Given the description of an element on the screen output the (x, y) to click on. 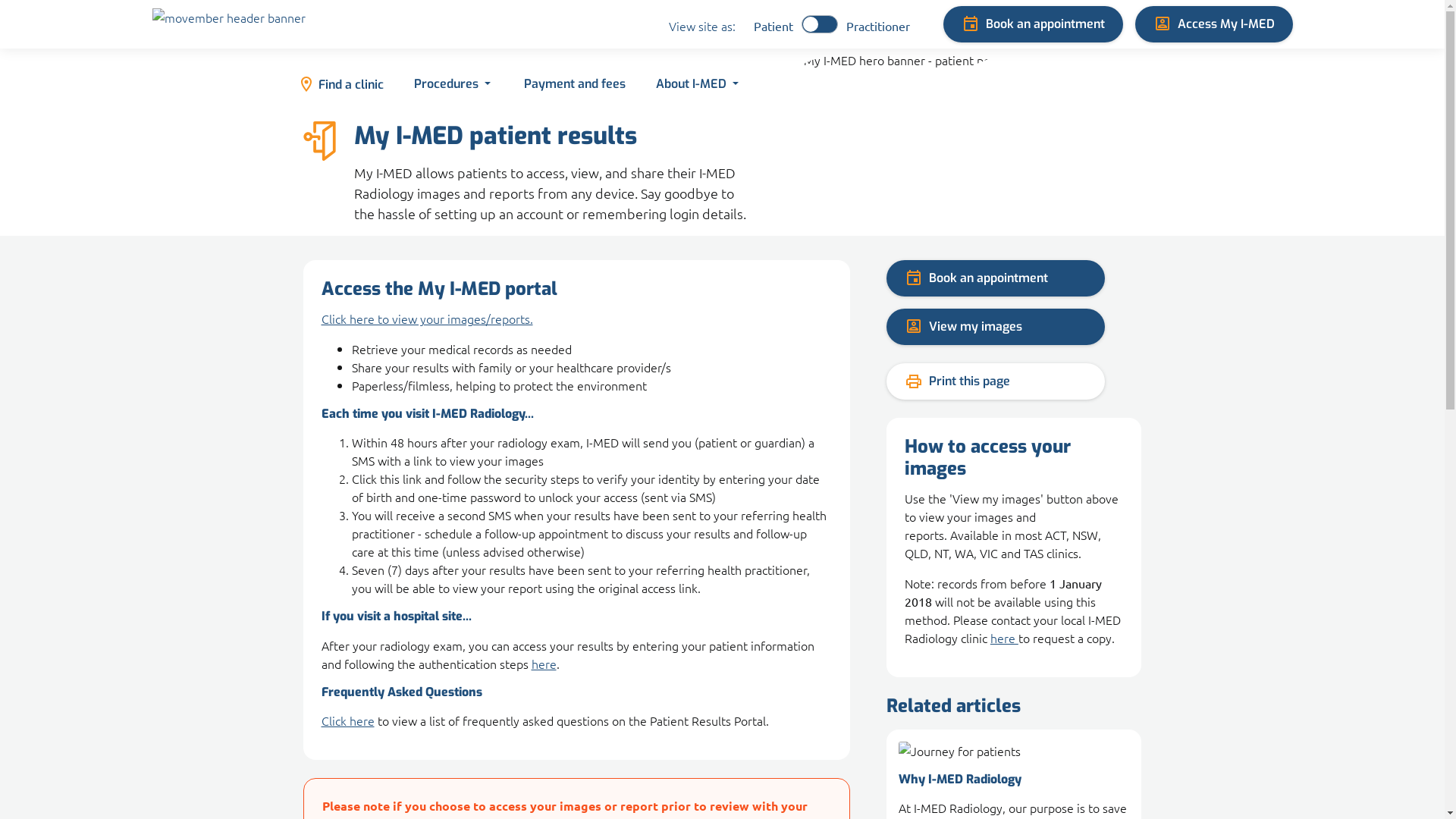
View my images Element type: text (995, 326)
Access My I-MED Element type: text (1213, 24)
Click here Element type: text (347, 720)
here  Element type: text (1004, 637)
Find a clinic Element type: text (340, 84)
Click here to view your images/reports. Element type: text (427, 318)
Payment and fees Element type: text (572, 84)
Book an appointment Element type: text (1033, 24)
printPrint this page Element type: text (995, 381)
Book an appointment Element type: text (995, 278)
Procedures Element type: text (451, 84)
Access My I-MED Element type: text (1213, 24)
About I-MED Element type: text (696, 84)
here Element type: text (542, 663)
